Given the description of an element on the screen output the (x, y) to click on. 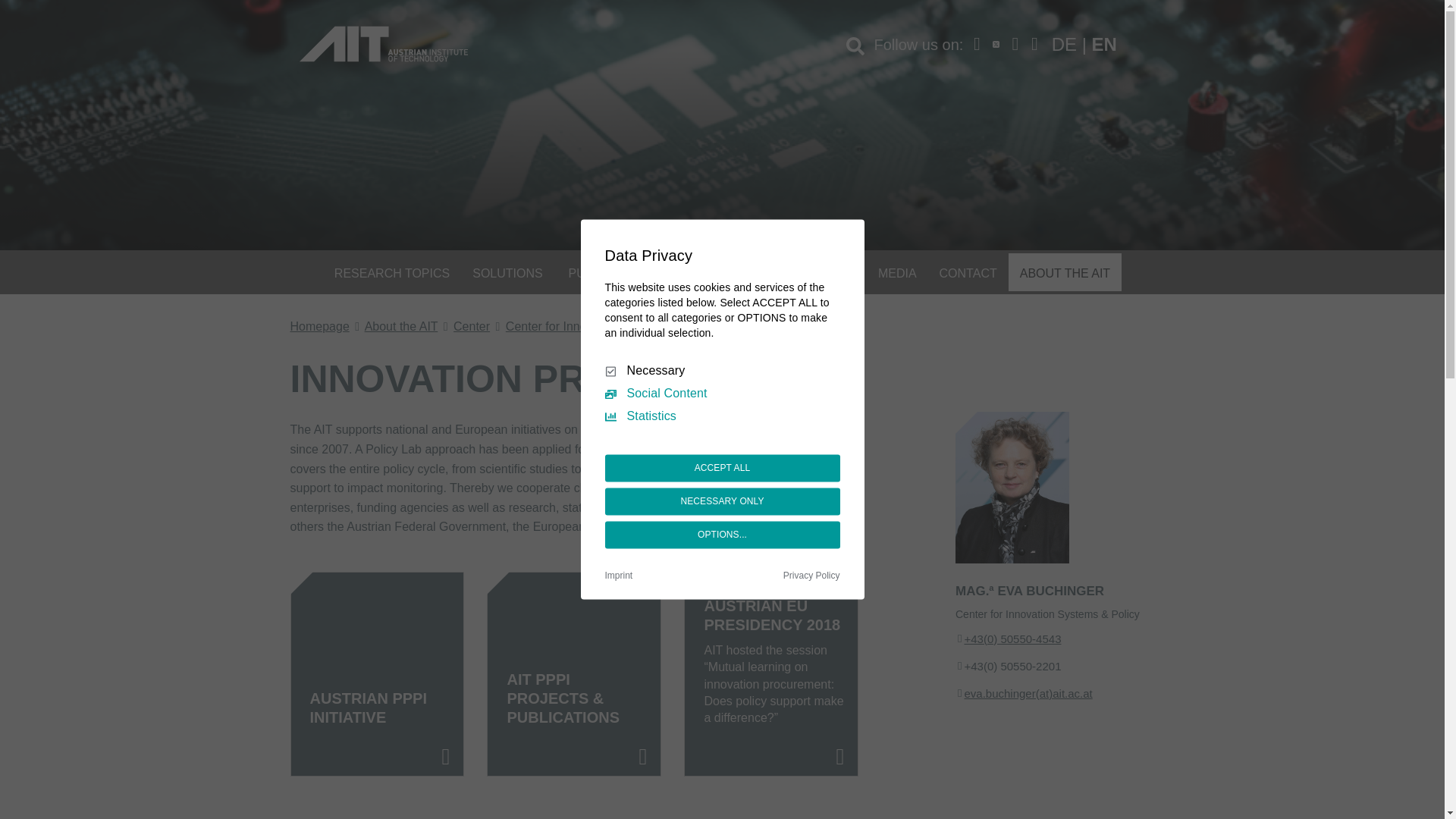
AIT Logo (382, 43)
English (1104, 44)
AIT - Austrian Institute Of Technology (382, 43)
EN (1096, 44)
DE (1064, 44)
RESEARCH TOPICS (392, 272)
German (1064, 44)
